Given the description of an element on the screen output the (x, y) to click on. 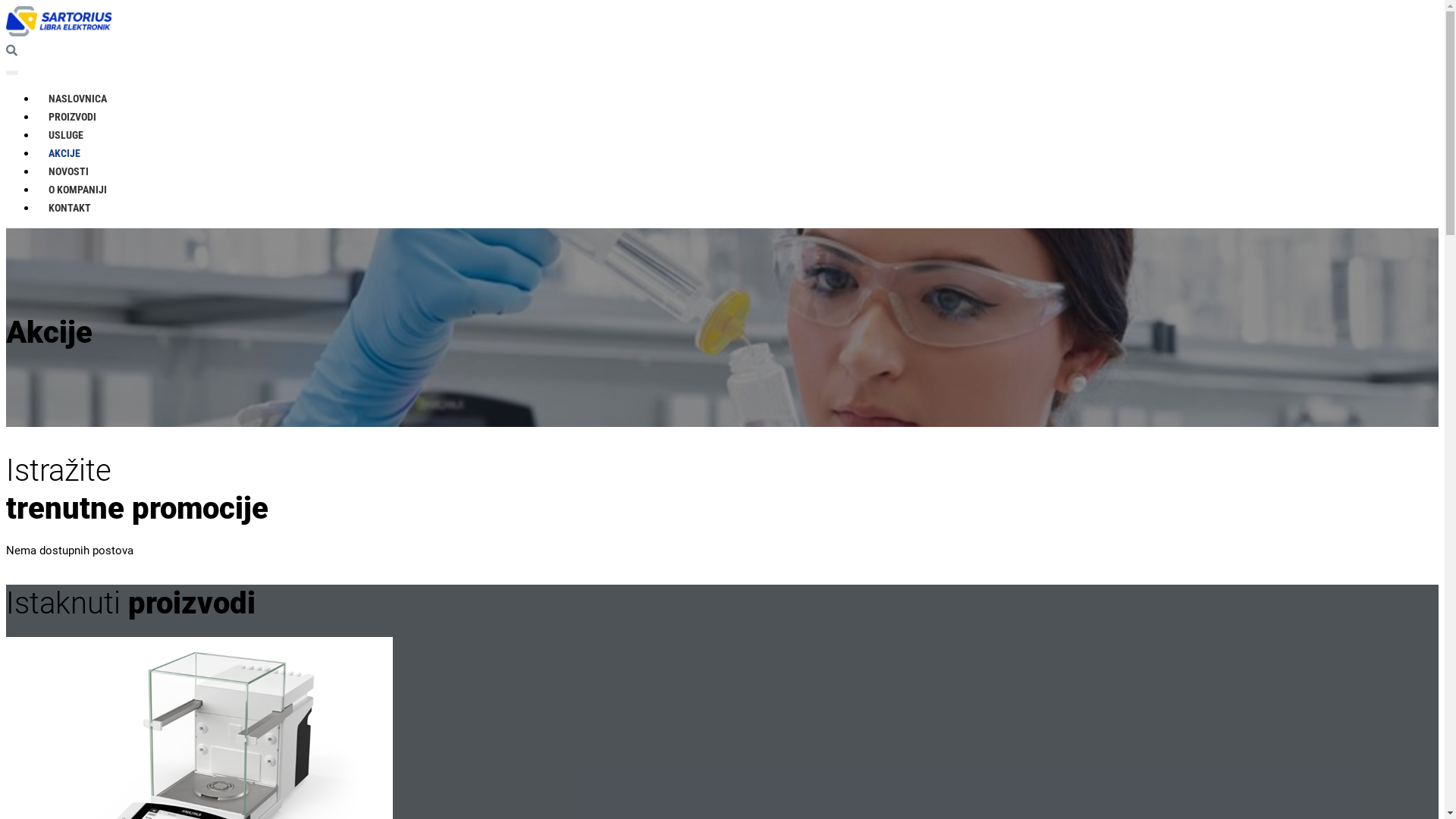
AKCIJE Element type: text (64, 153)
USLUGE Element type: text (65, 134)
PROIZVODI Element type: text (72, 116)
KONTAKT Element type: text (69, 207)
O KOMPANIJI Element type: text (77, 189)
NASLOVNICA Element type: text (77, 98)
NOVOSTI Element type: text (68, 171)
